Given the description of an element on the screen output the (x, y) to click on. 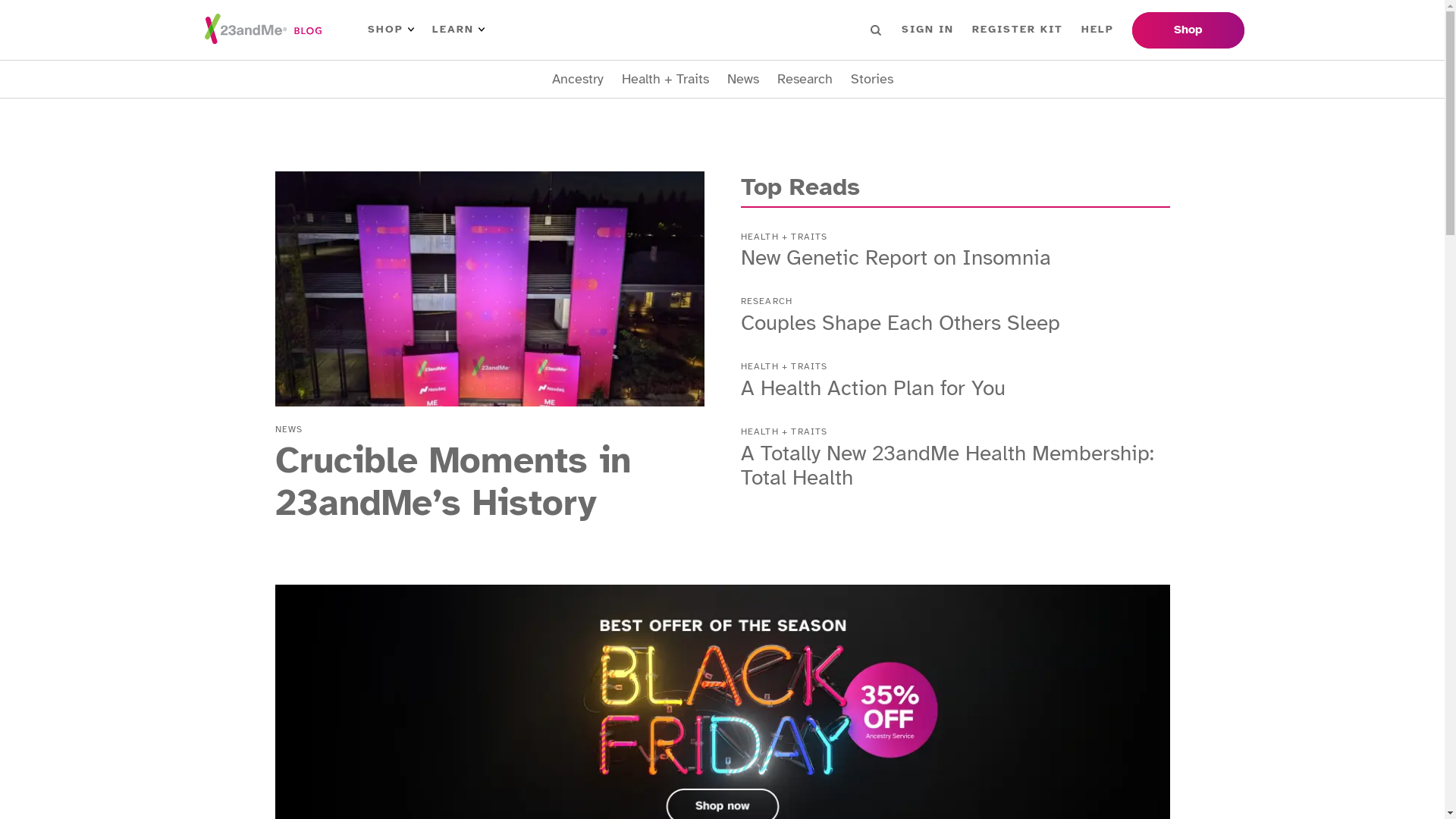
REGISTER KIT Element type: text (1017, 29)
Stories Element type: text (871, 79)
SIGN IN Element type: text (926, 29)
HELP Element type: text (1097, 29)
Ancestry Element type: text (577, 79)
Shop Element type: text (1187, 30)
News Element type: text (742, 79)
A Health Action Plan for You Element type: text (872, 387)
Research Element type: text (803, 79)
Couples Shape Each Others Sleep Element type: text (899, 322)
A Totally New 23andMe Health Membership: Total Health Element type: text (946, 464)
Health + Traits Element type: text (665, 79)
LEARN Element type: text (458, 29)
Search Element type: text (875, 29)
SHOP Element type: text (390, 29)
New Genetic Report on Insomnia Element type: text (895, 257)
